Given the description of an element on the screen output the (x, y) to click on. 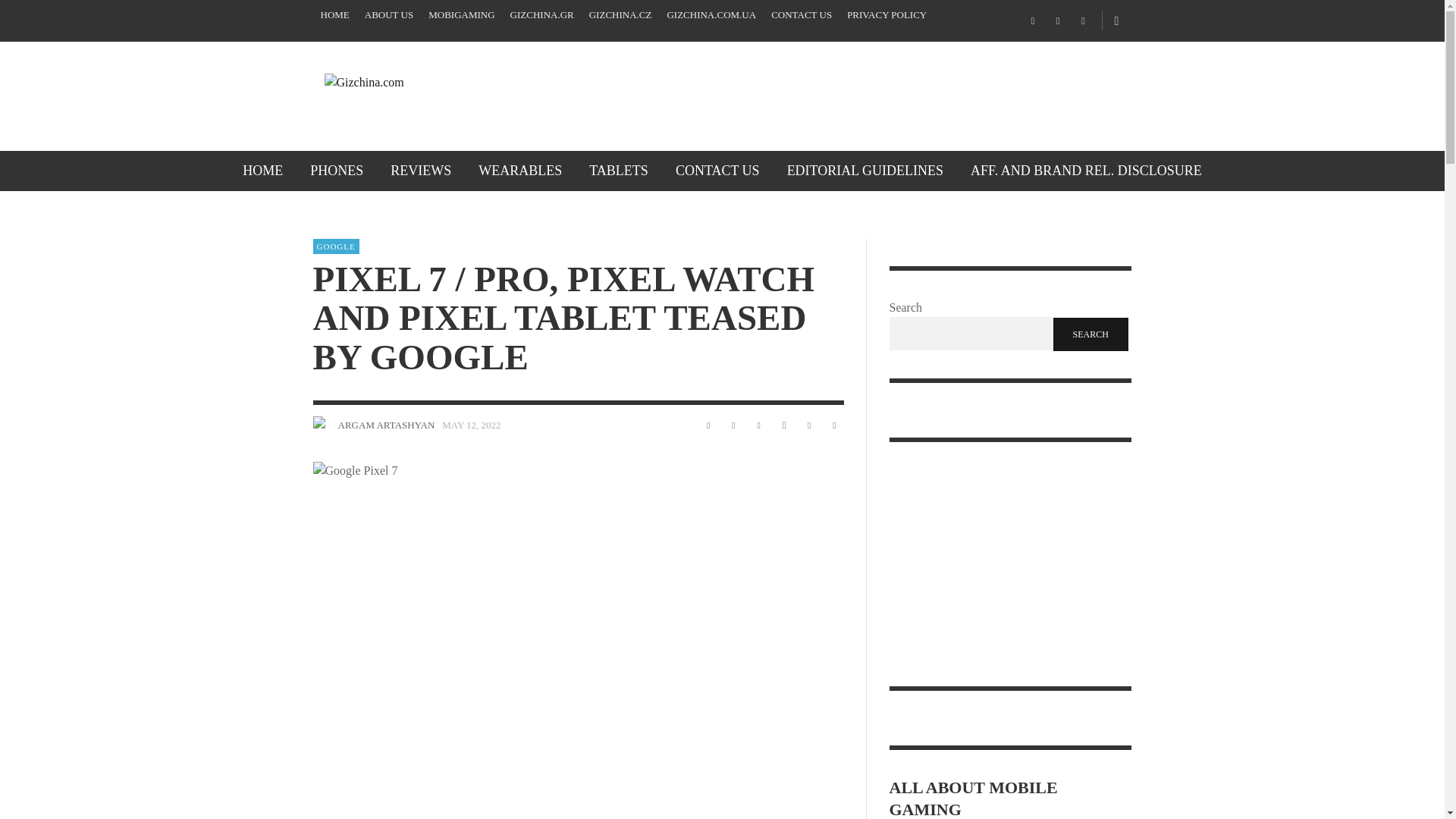
GIZCHINA.GR (541, 15)
GIZCHINA.COM.UA (710, 15)
CONTACT US (801, 15)
ABOUT US (388, 15)
MOBIGAMING (461, 15)
PRIVACY POLICY (887, 15)
PHONES (337, 170)
GIZCHINA.CZ (619, 15)
HOME (334, 15)
HOME (262, 170)
